Given the description of an element on the screen output the (x, y) to click on. 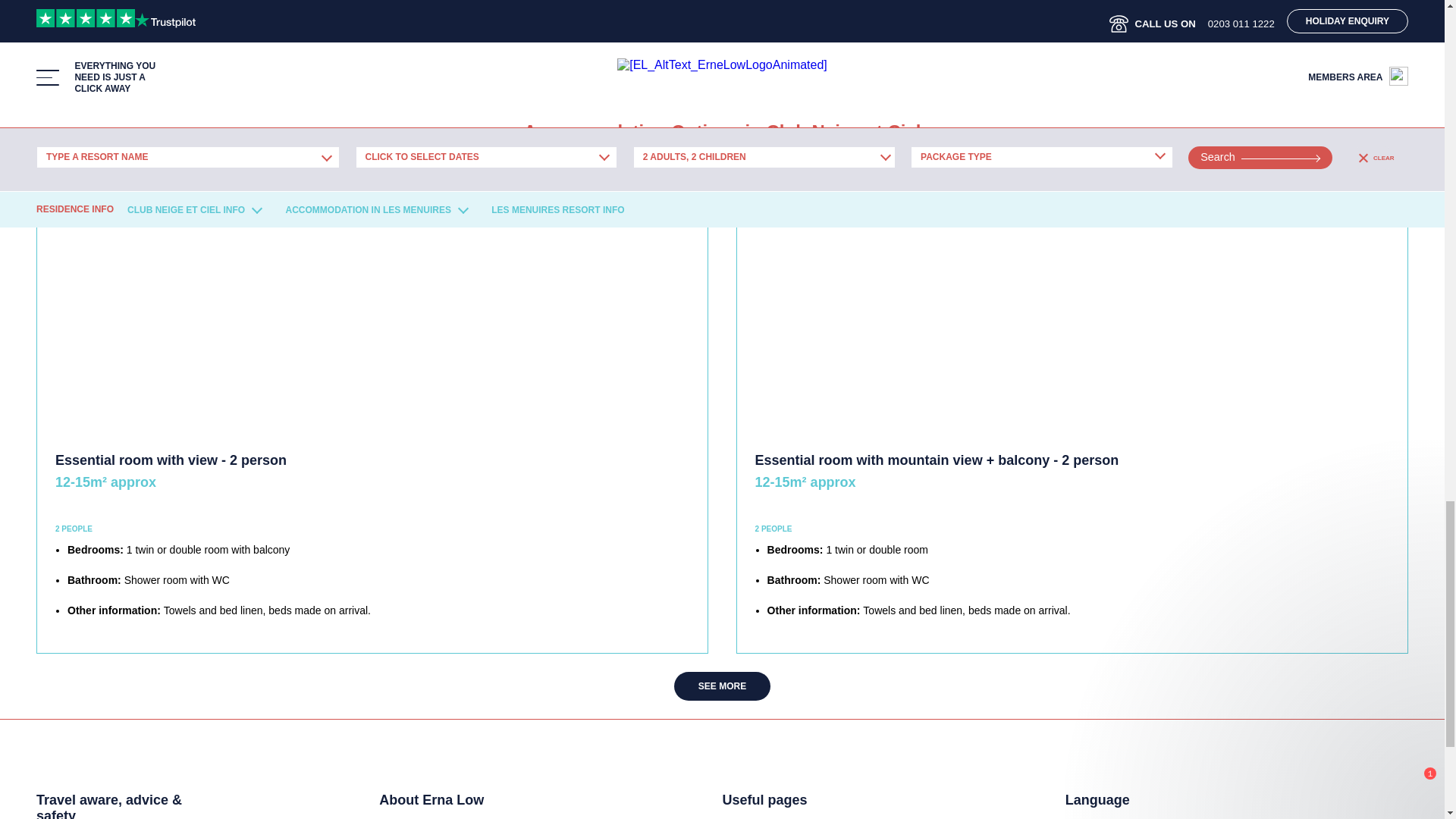
A JS library for interactive maps (1275, 66)
